Given the description of an element on the screen output the (x, y) to click on. 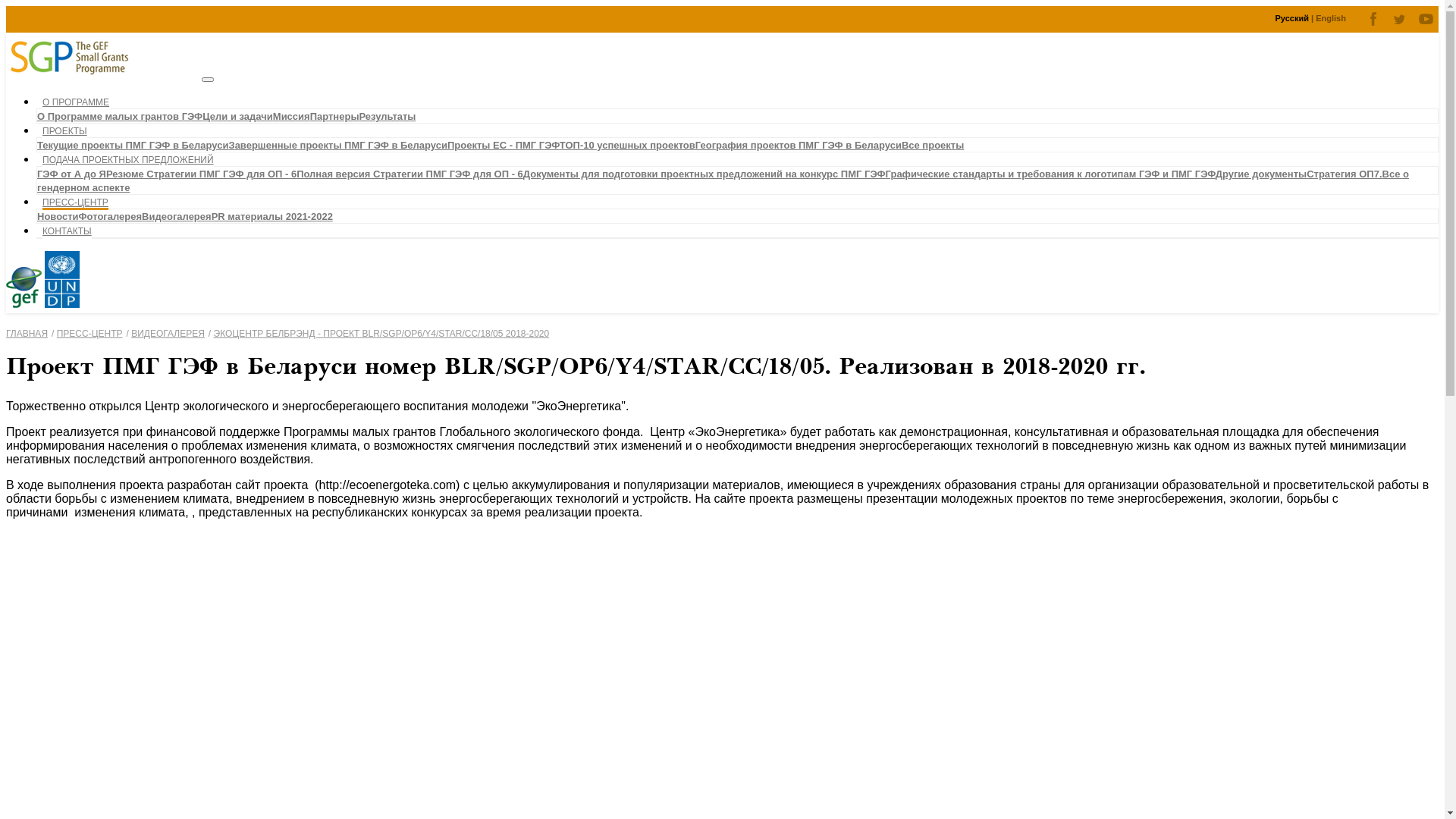
English Element type: text (1330, 17)
